Given the description of an element on the screen output the (x, y) to click on. 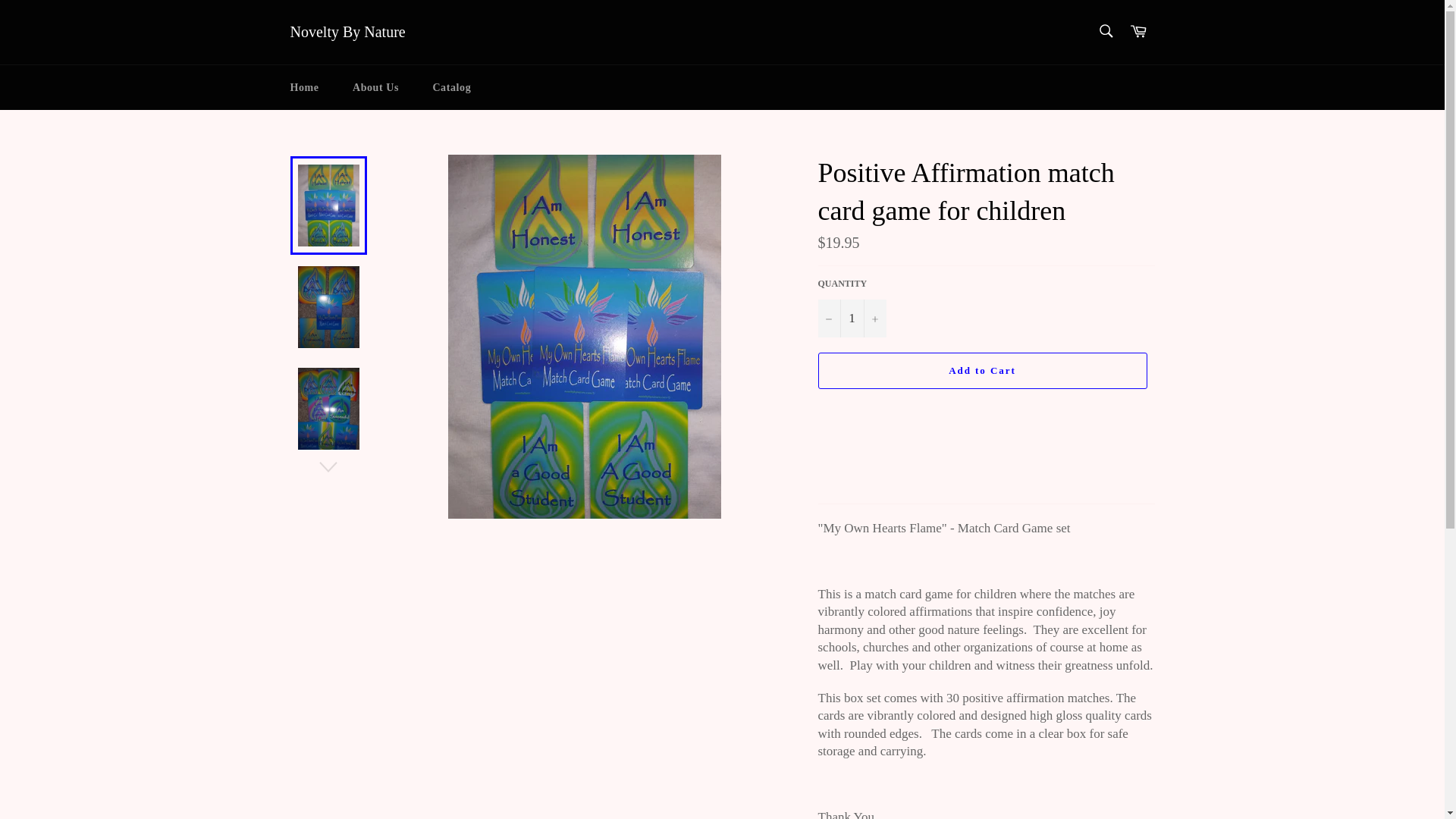
Search (1104, 30)
Add to Cart (981, 370)
1 (850, 317)
Catalog (451, 87)
Novelty By Nature (346, 32)
Cart (1138, 32)
Home (304, 87)
About Us (375, 87)
